Given the description of an element on the screen output the (x, y) to click on. 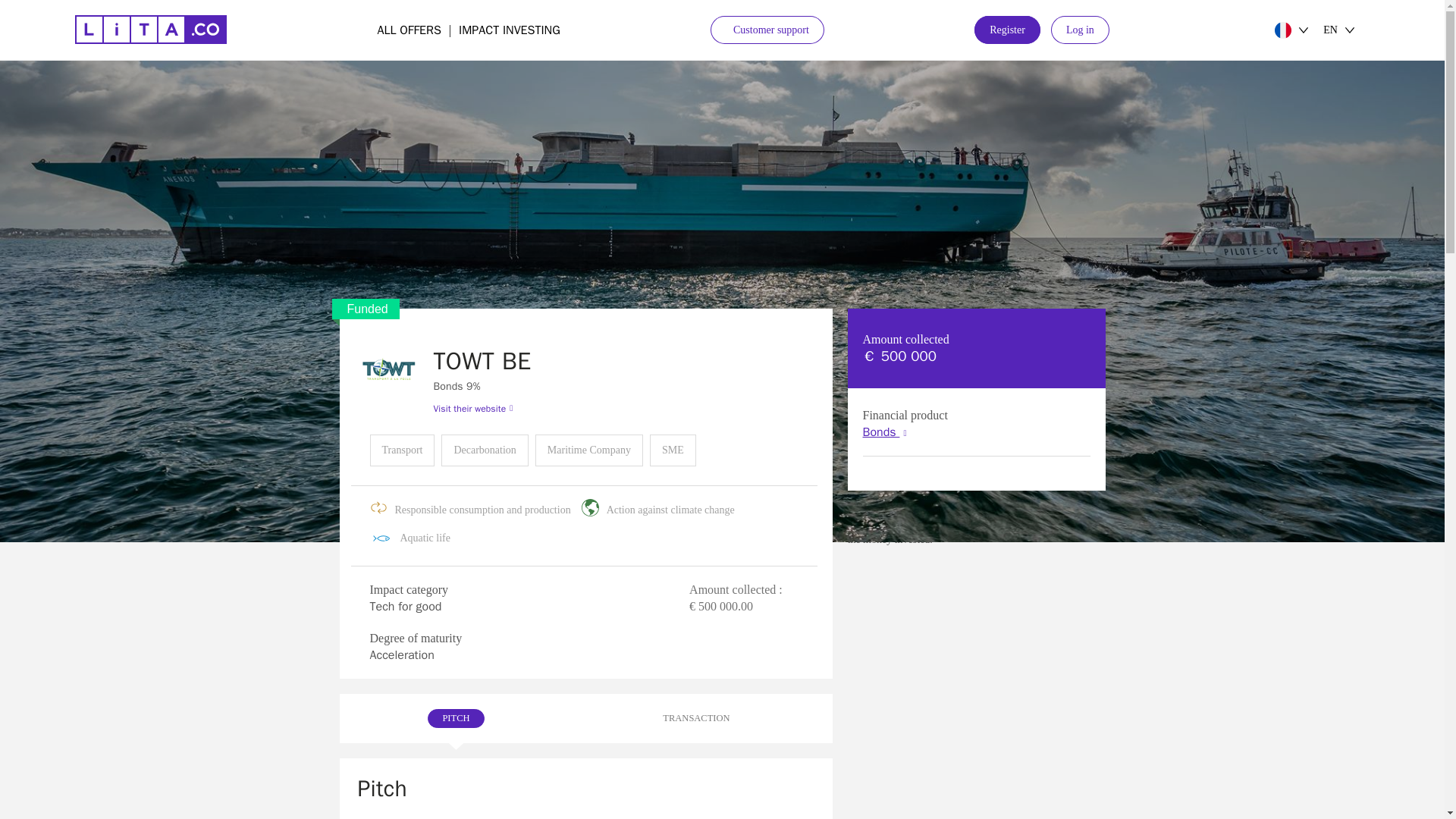
EN (1346, 29)
ALL OFFERS (409, 29)
Bonds (885, 432)
Register (585, 718)
Visit their website (1007, 29)
Customer support (500, 408)
Log in (767, 29)
PITCH (1080, 29)
IMPACT INVESTING (455, 717)
TRANSACTION (509, 29)
